Given the description of an element on the screen output the (x, y) to click on. 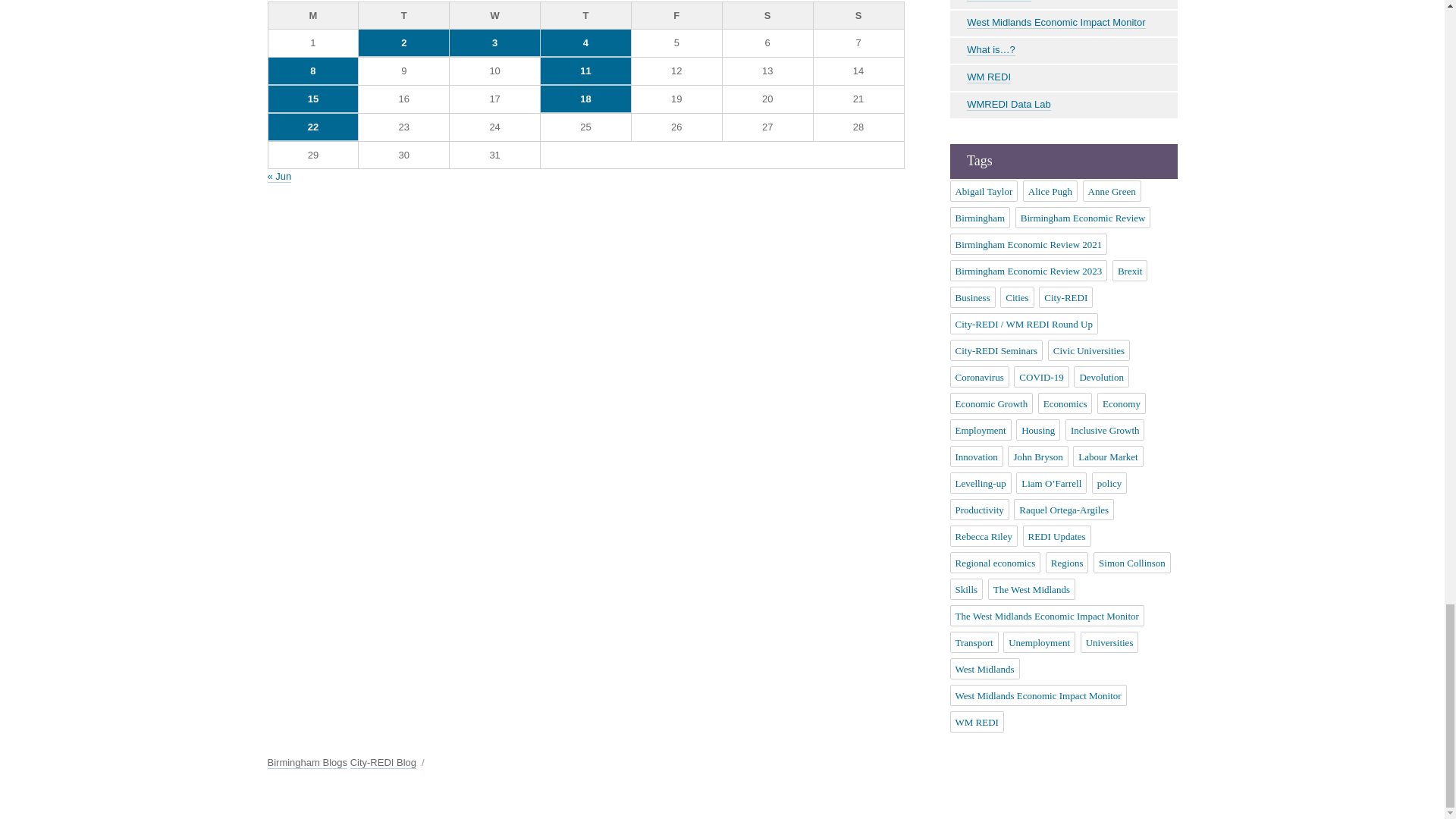
Tuesday (403, 15)
3 (494, 42)
Saturday (767, 15)
Monday (313, 15)
4 (585, 42)
8 (312, 71)
2 (403, 42)
Thursday (585, 15)
Wednesday (494, 15)
Sunday (858, 15)
Friday (676, 15)
